Given the description of an element on the screen output the (x, y) to click on. 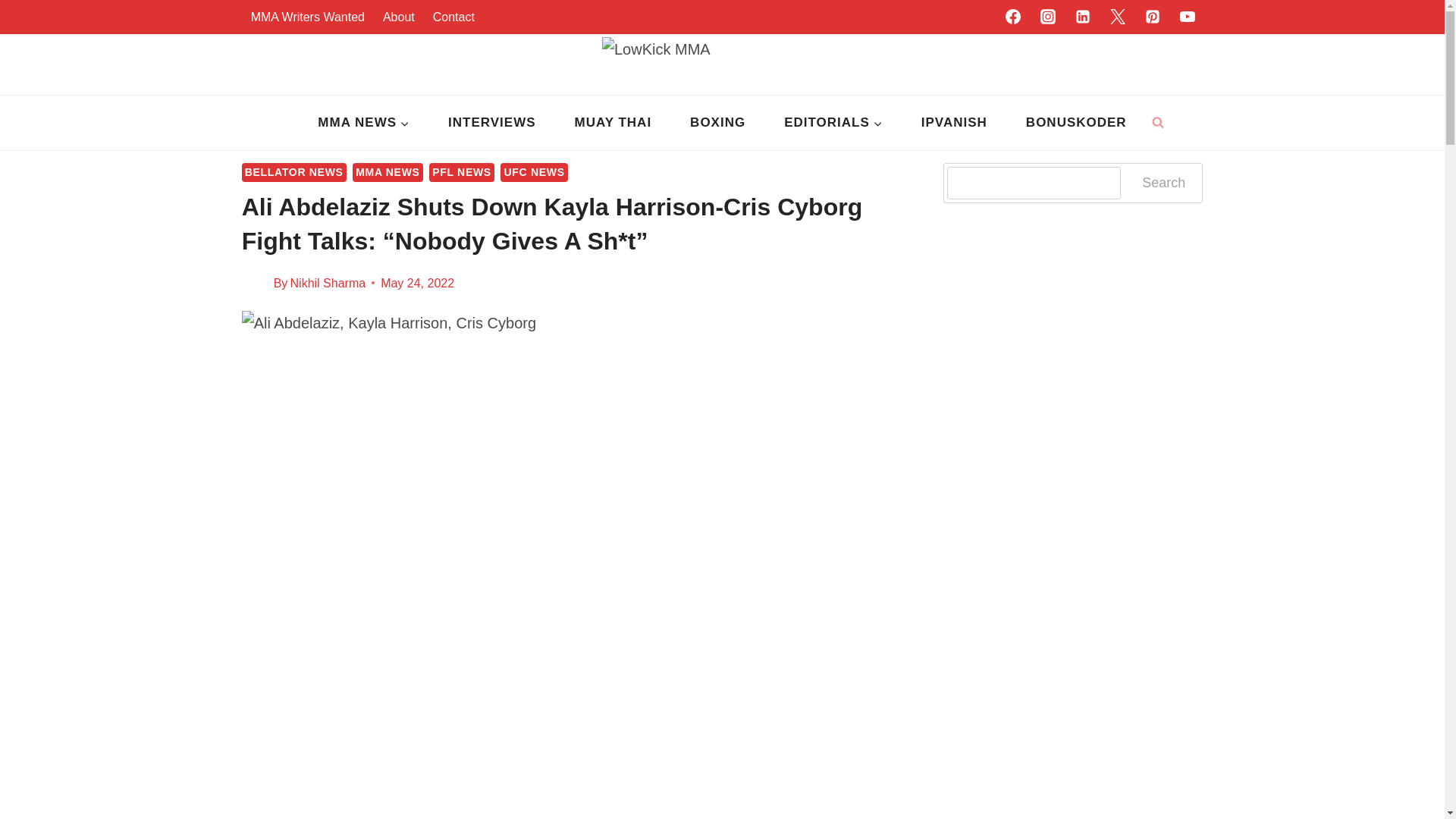
MMA NEWS (363, 122)
BOXING (718, 122)
EDITORIALS (833, 122)
BONUSKODER (1075, 122)
MUAY THAI (612, 122)
INTERVIEWS (491, 122)
About (398, 17)
Contact (453, 17)
IPVANISH (953, 122)
